Given the description of an element on the screen output the (x, y) to click on. 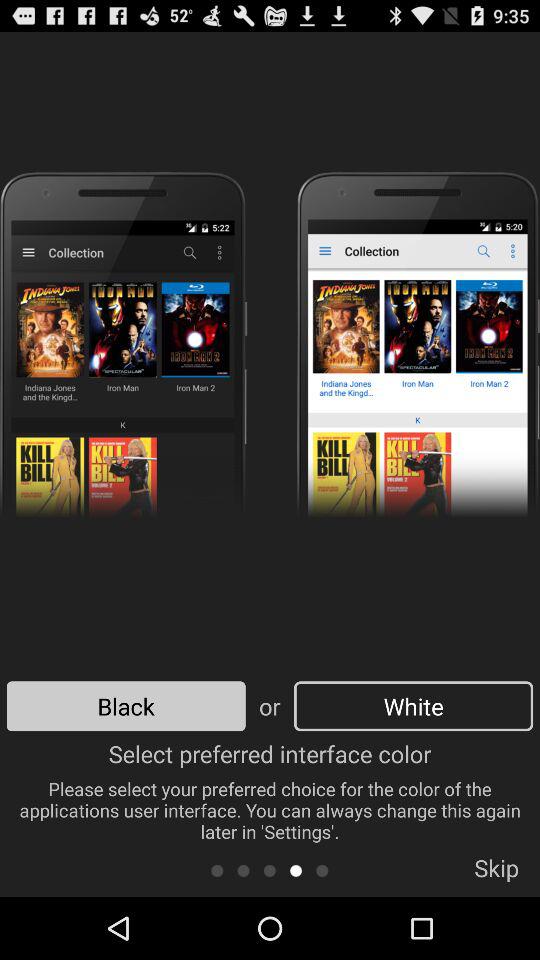
scroll pages (269, 870)
